Given the description of an element on the screen output the (x, y) to click on. 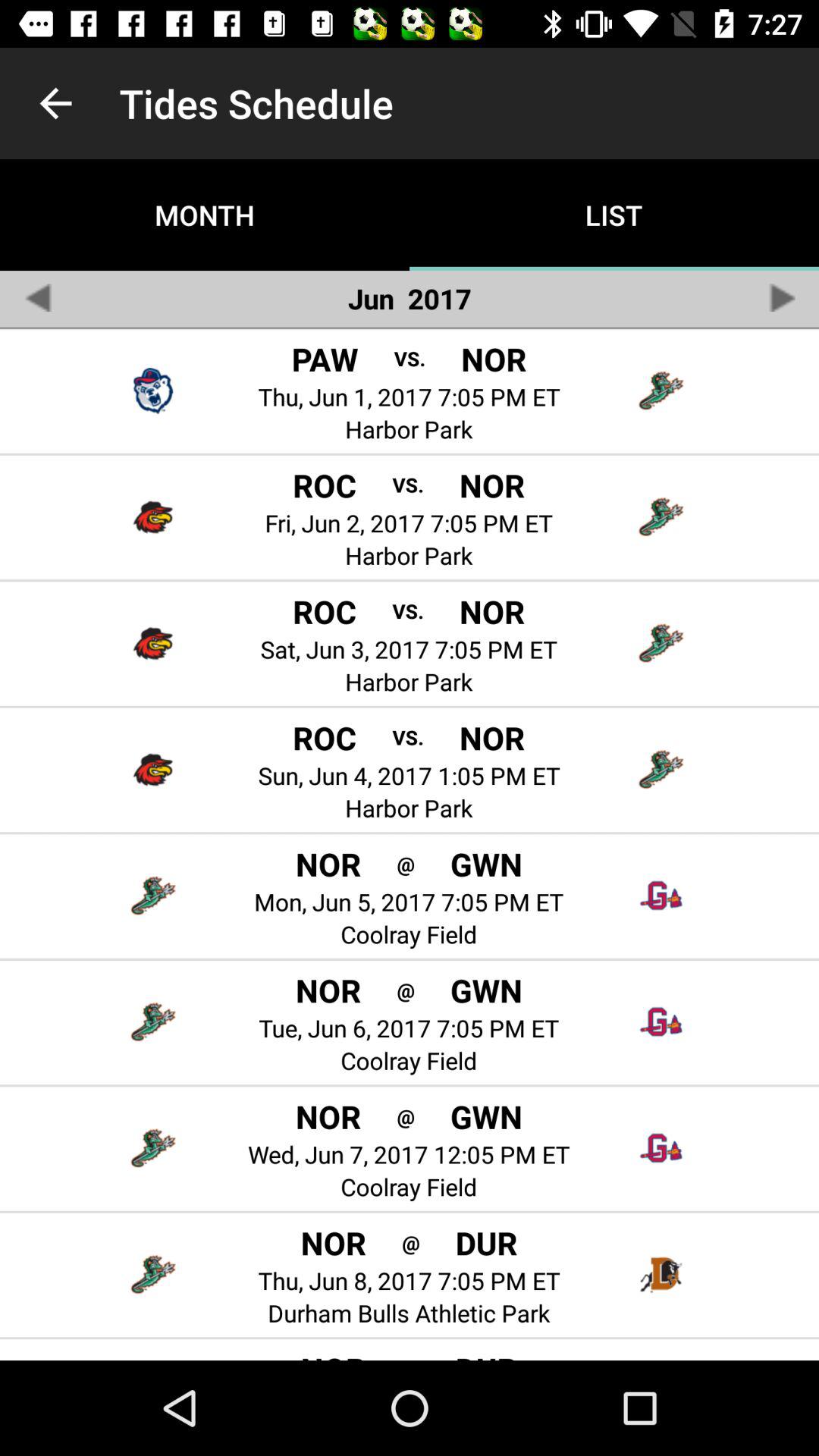
open the item next to the dur icon (410, 1242)
